Given the description of an element on the screen output the (x, y) to click on. 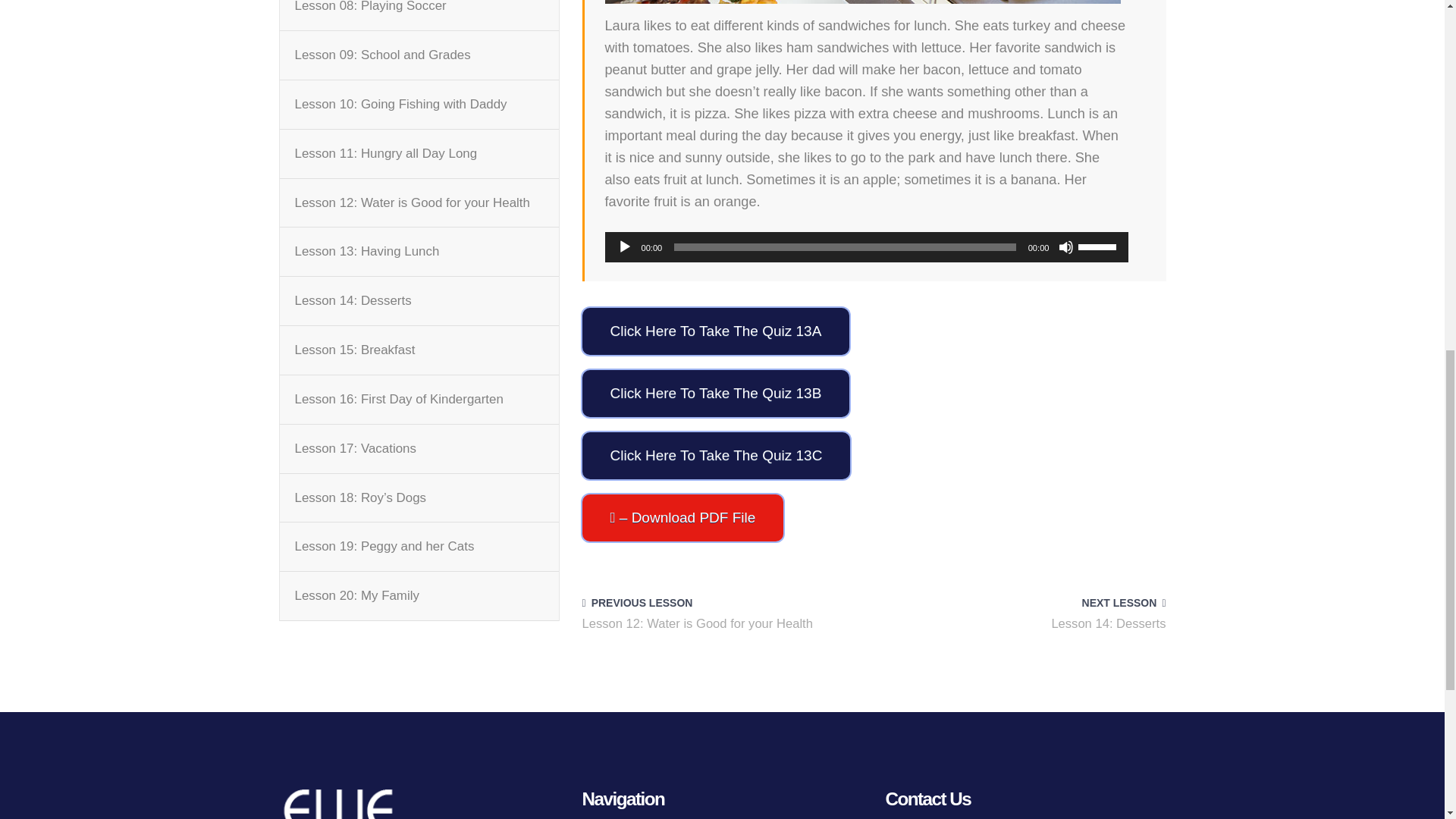
Play (624, 246)
Lesson 10: Going Fishing with Daddy (400, 104)
Mute (1066, 246)
Lesson 08: Playing Soccer (369, 9)
Lesson 09: School and Grades (382, 54)
